Given the description of an element on the screen output the (x, y) to click on. 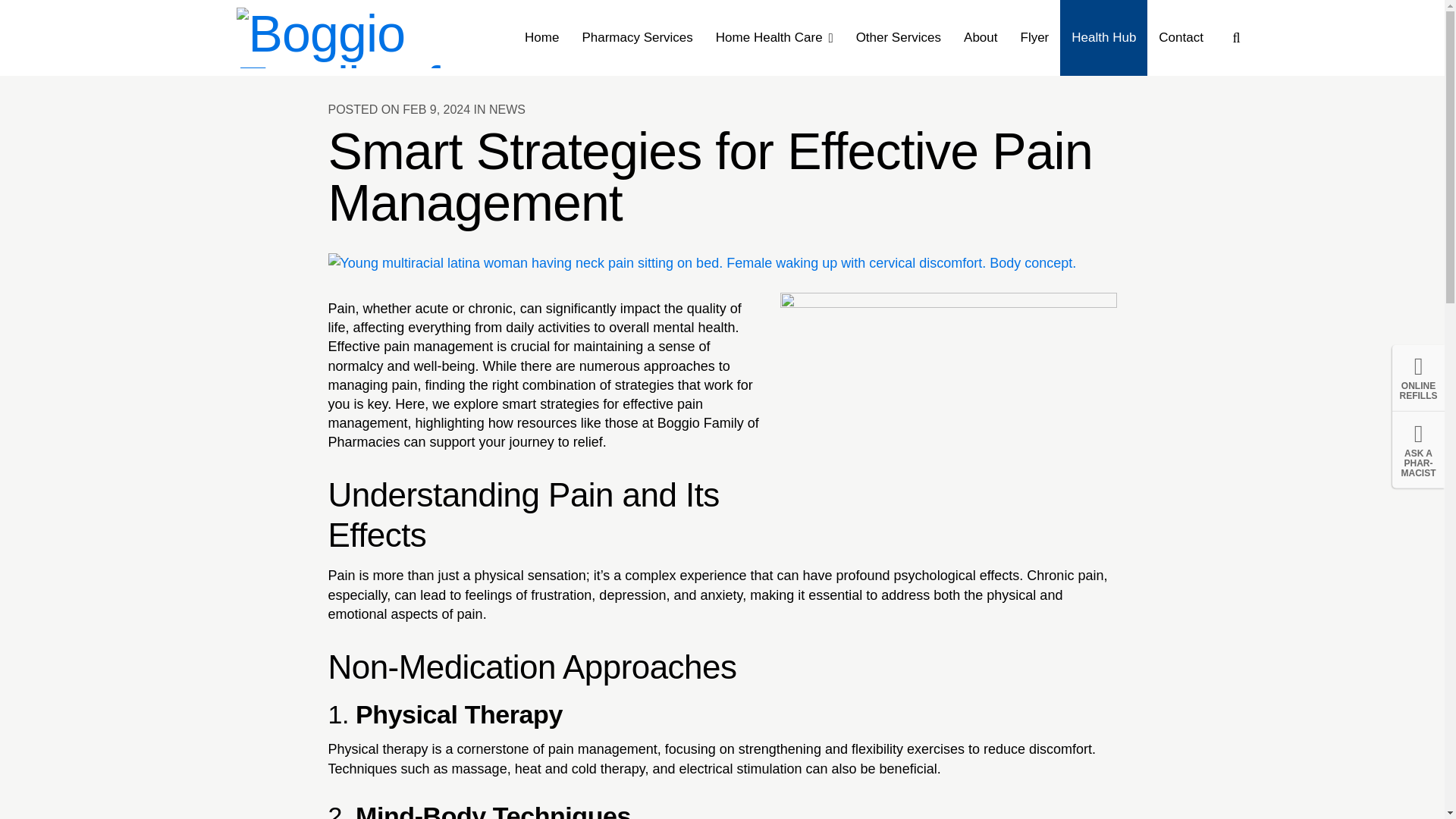
Other Services (898, 38)
Pharmacy Services (636, 38)
Contact (1180, 38)
Home Health Care (774, 38)
Health Hub (1103, 38)
NEWS (507, 109)
Search (1235, 37)
